Given the description of an element on the screen output the (x, y) to click on. 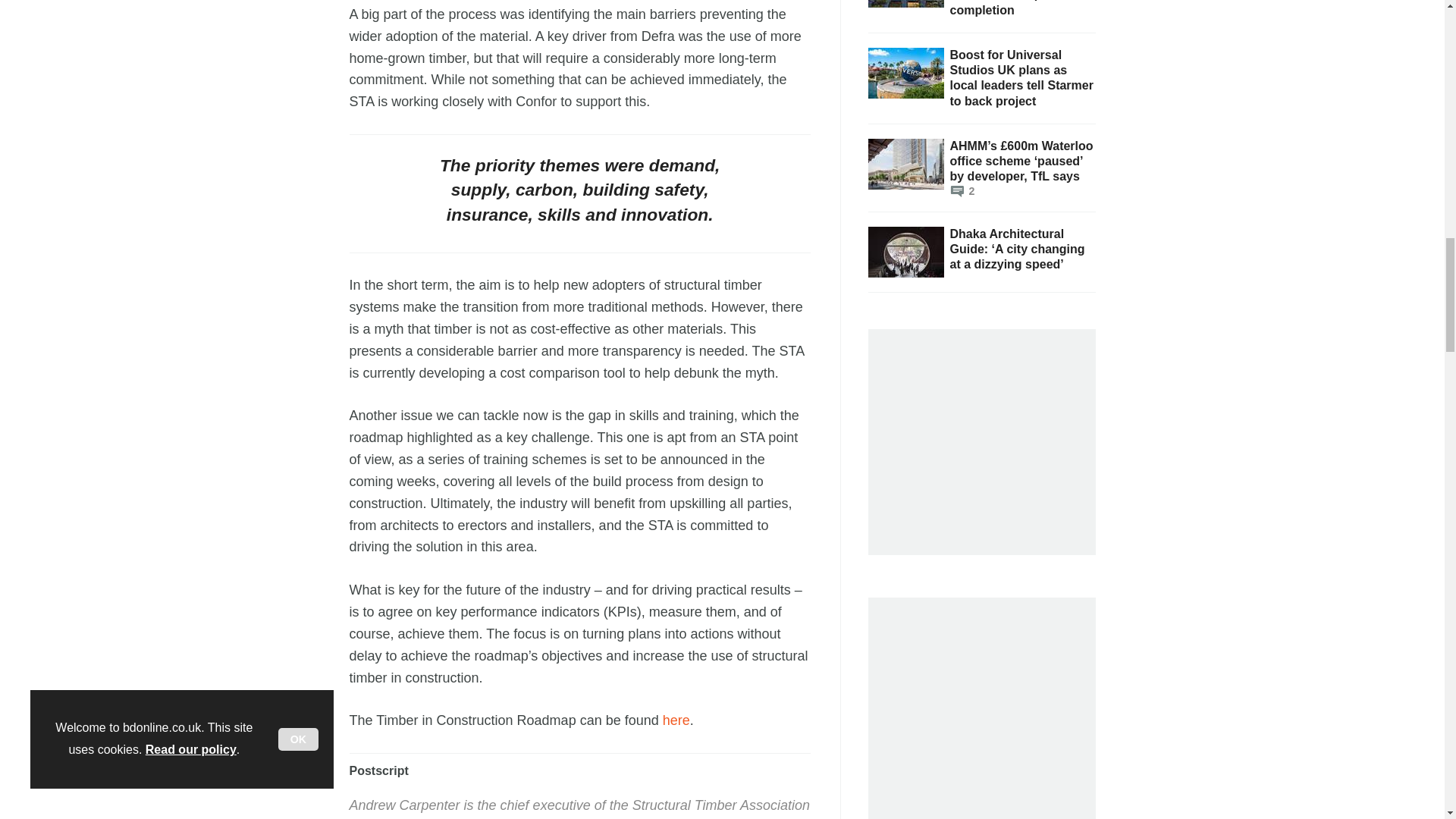
3rd party ad content (985, 434)
3rd party ad content (985, 713)
